Given the description of an element on the screen output the (x, y) to click on. 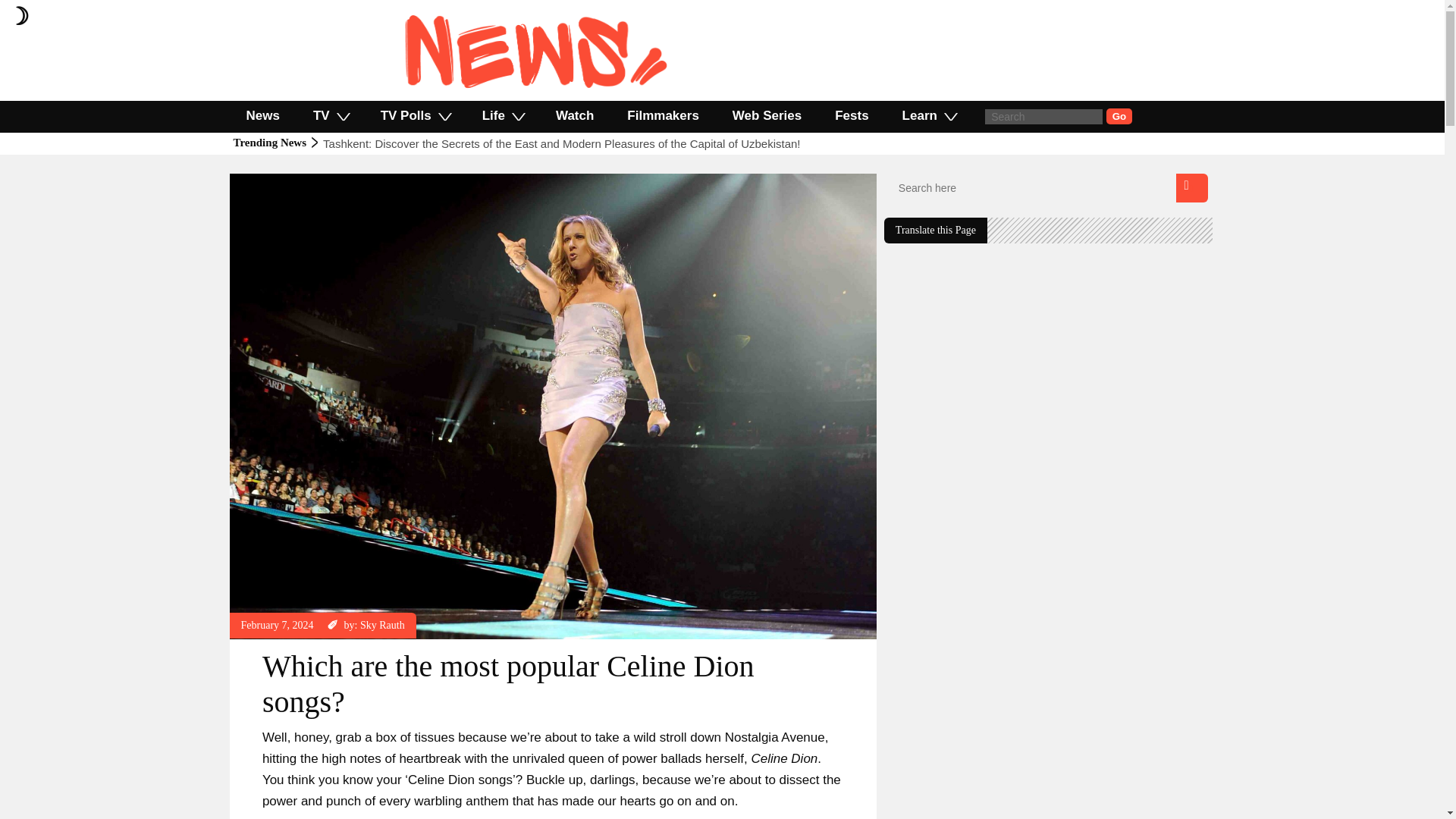
Music (253, 180)
Go (1119, 116)
News (261, 115)
February 7, 2024 (277, 624)
Life (501, 115)
Go (1119, 116)
Learn (928, 115)
Watch (574, 115)
Go (1119, 116)
